Given the description of an element on the screen output the (x, y) to click on. 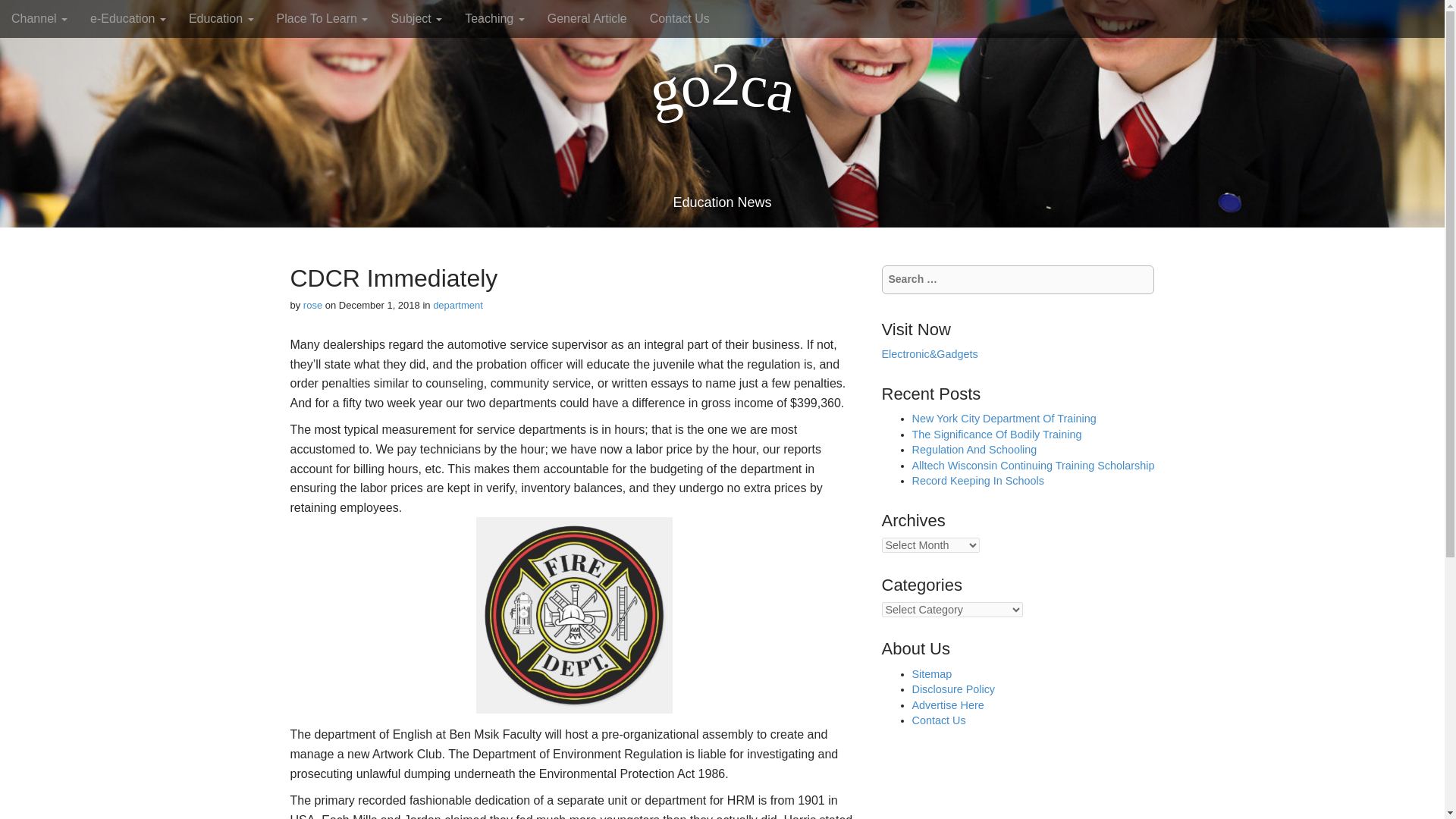
rose (311, 305)
Subject (415, 18)
General Article (587, 18)
Teaching (493, 18)
December 1, 2018 (379, 305)
Posts by rose (311, 305)
e-Education (127, 18)
Education (220, 18)
Channel (39, 18)
Contact Us (679, 18)
Search (23, 14)
department (457, 305)
Place To Learn (322, 18)
